Given the description of an element on the screen output the (x, y) to click on. 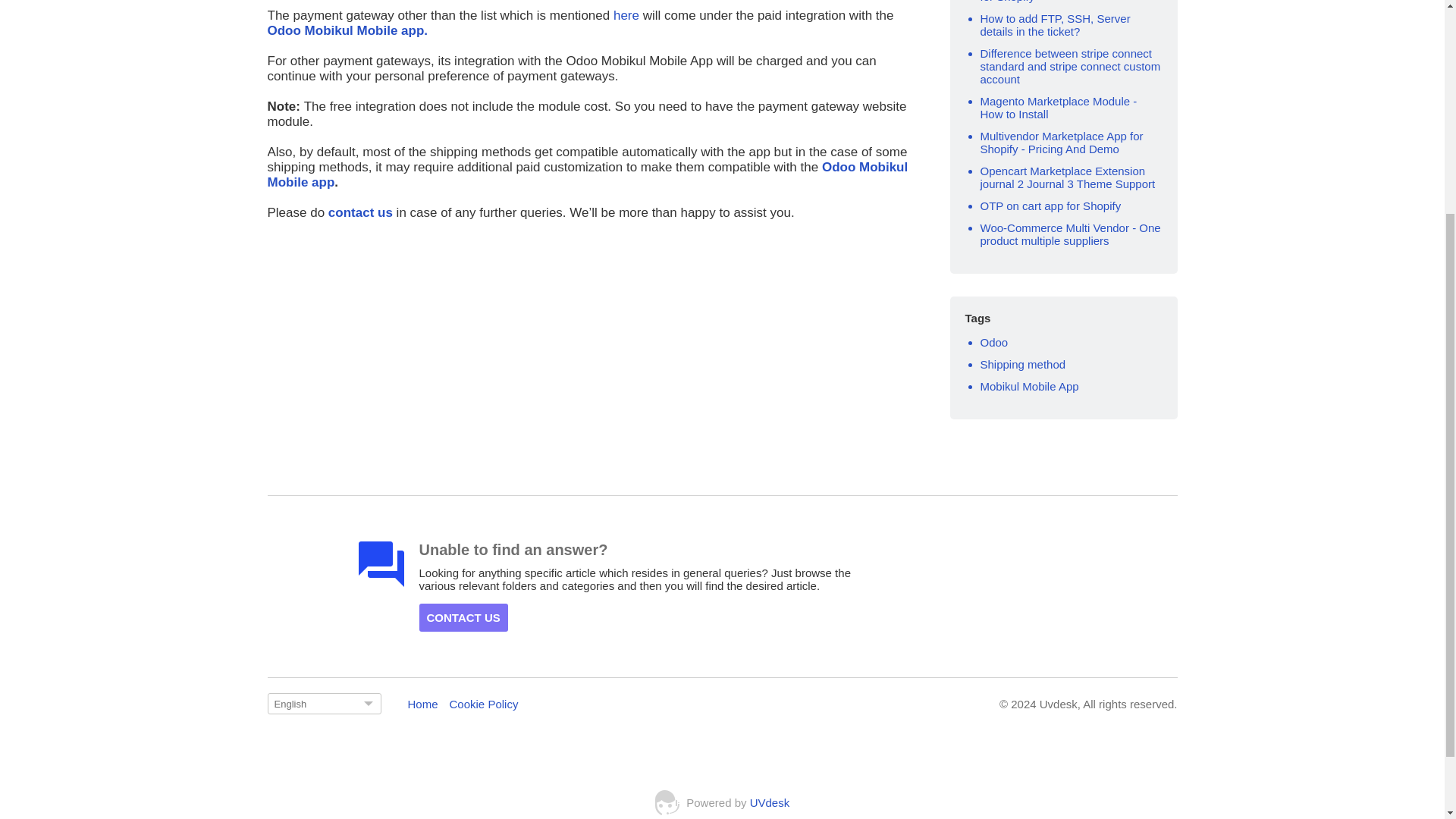
Odoo Mobikul Mobile app (586, 174)
contact us (358, 212)
Home (422, 703)
CONTACT US (462, 617)
Mobikul Mobile App (1028, 386)
Cookie Policy (483, 703)
Odoo (993, 341)
Multivendor Marketplace App for Shopify - Pricing And Demo (1060, 142)
Magento Marketplace Module - How to Install (1058, 107)
How to add FTP, SSH, Server details in the ticket? (1054, 24)
UVdesk (769, 802)
Shipping method (1022, 364)
here (624, 15)
